Given the description of an element on the screen output the (x, y) to click on. 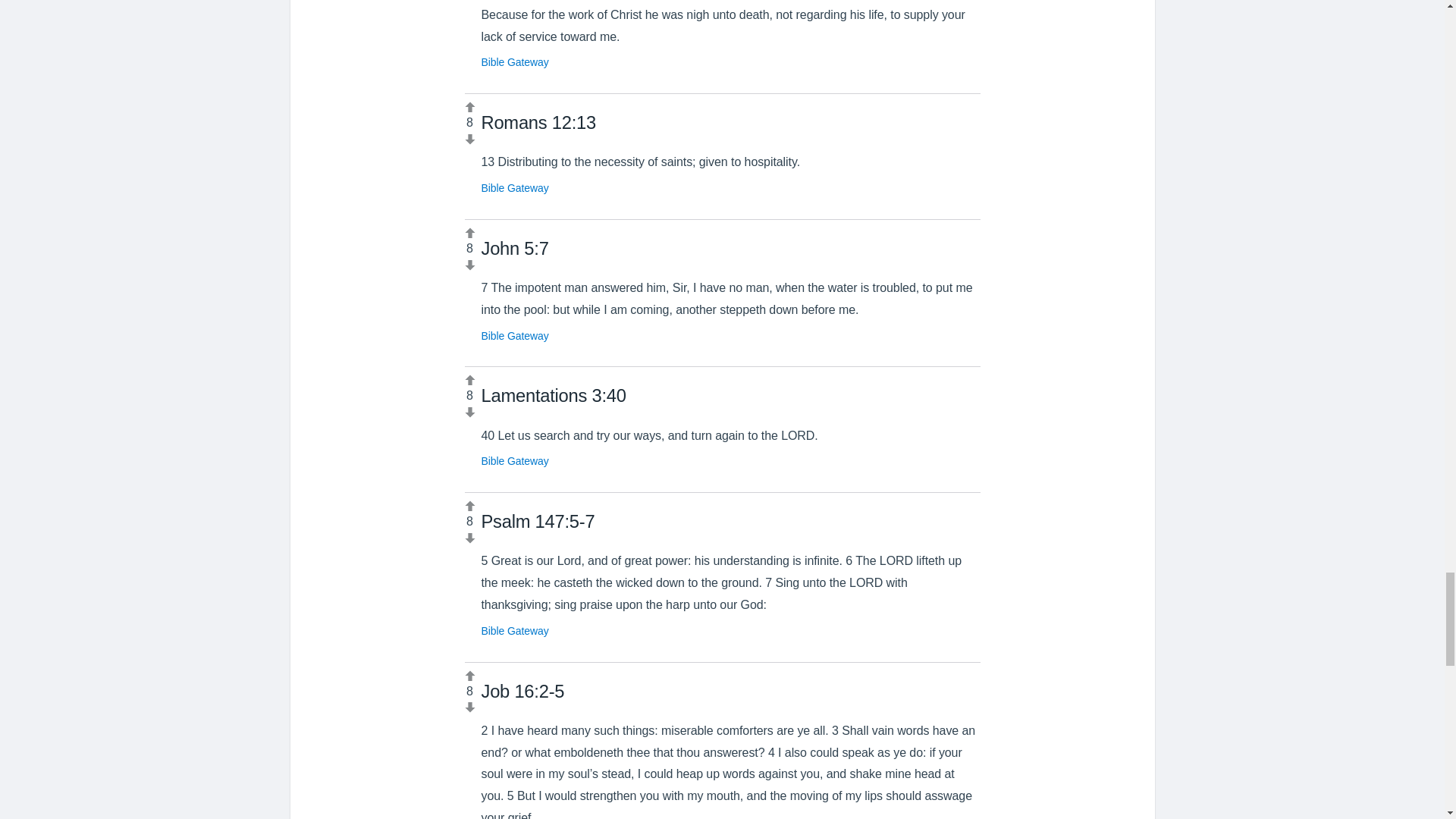
Bible Gateway (514, 187)
Bible Gateway (514, 630)
Bible Gateway (514, 336)
Bible Gateway (514, 61)
Bible Gateway (514, 460)
